Given the description of an element on the screen output the (x, y) to click on. 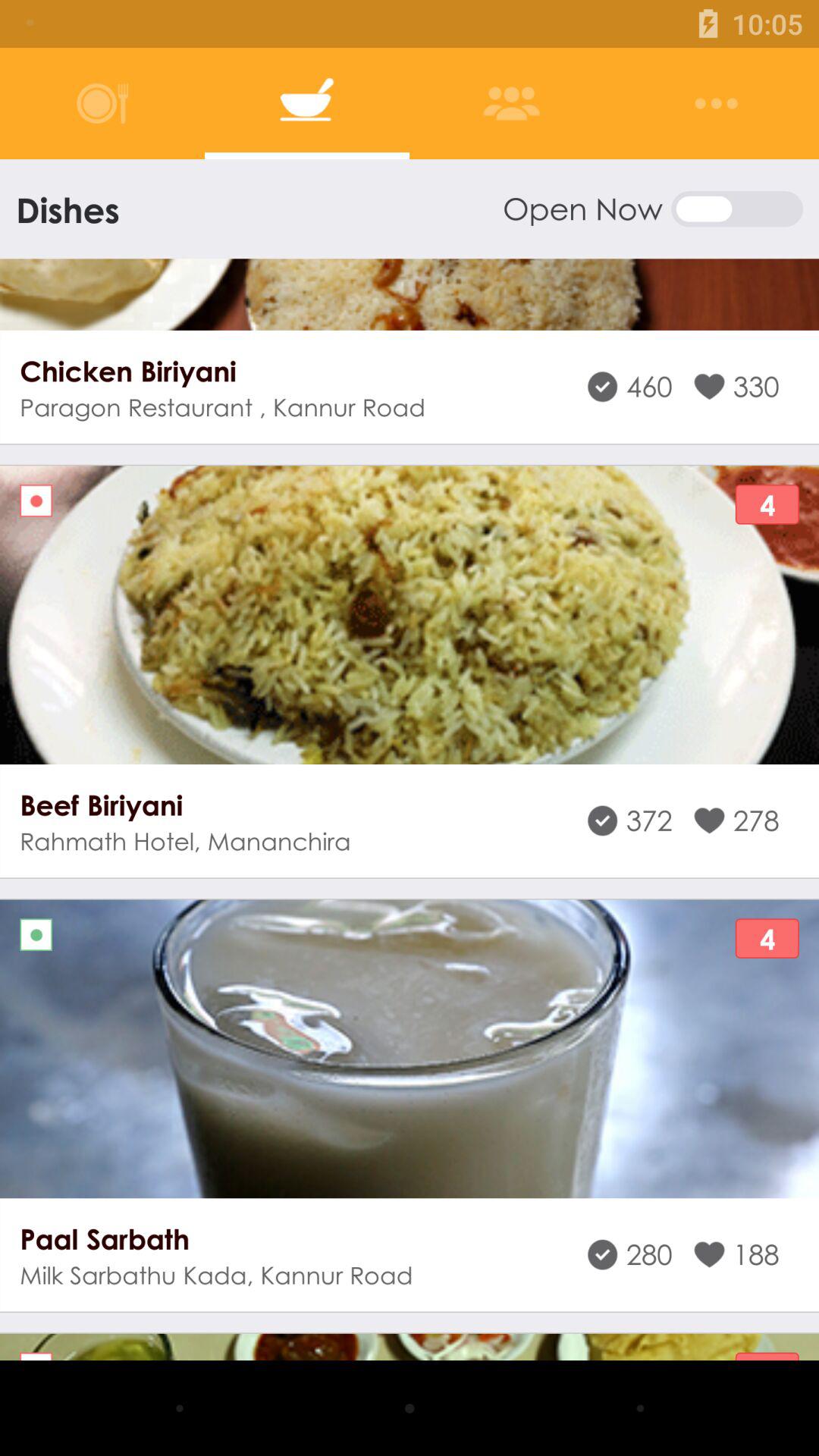
jump until open now  icon (652, 208)
